Given the description of an element on the screen output the (x, y) to click on. 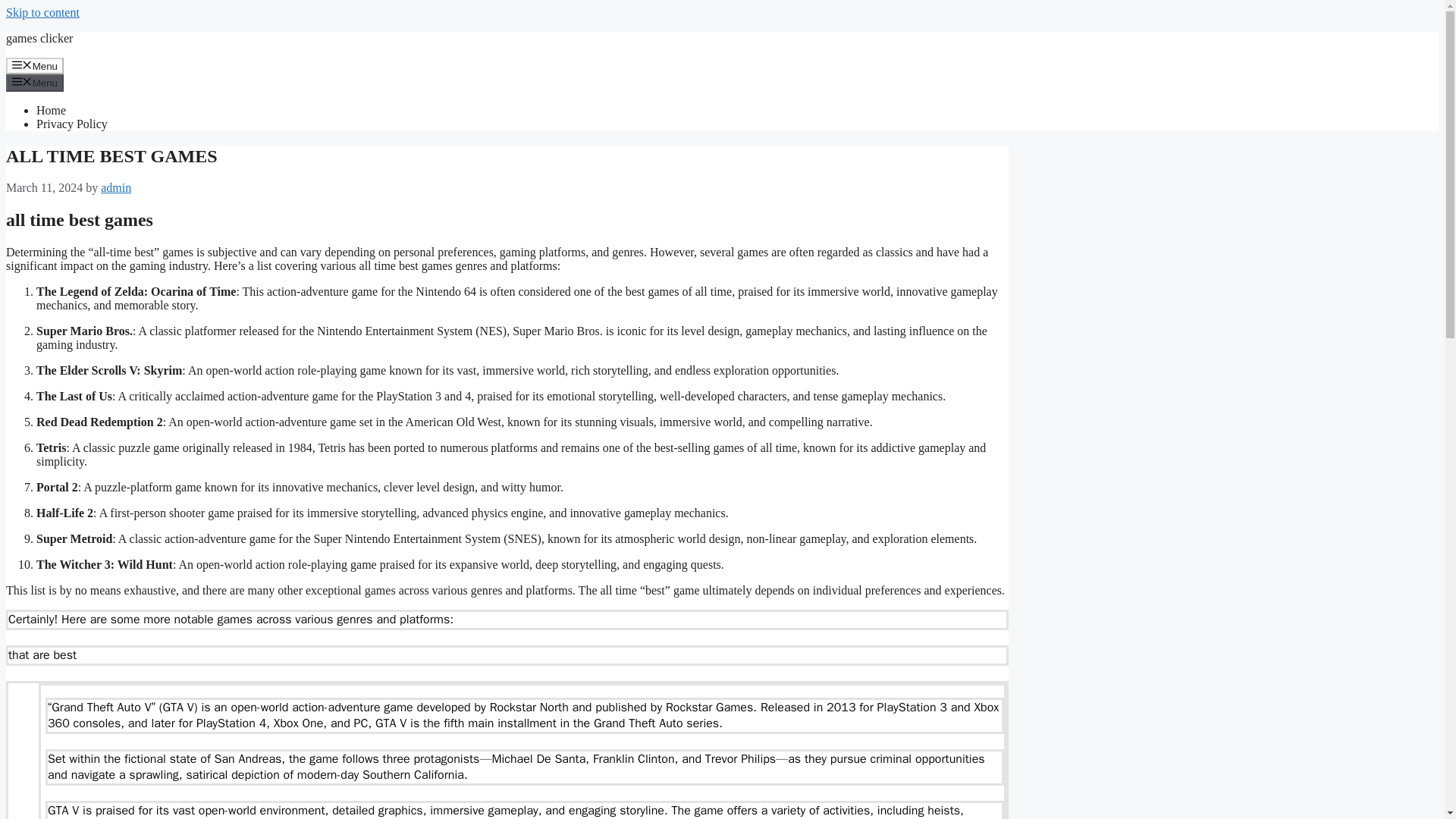
games clicker (38, 38)
Skip to content (42, 11)
Skip to content (42, 11)
Menu (34, 65)
Home (50, 110)
admin (115, 187)
Privacy Policy (71, 123)
Menu (34, 82)
View all posts by admin (115, 187)
